Given the description of an element on the screen output the (x, y) to click on. 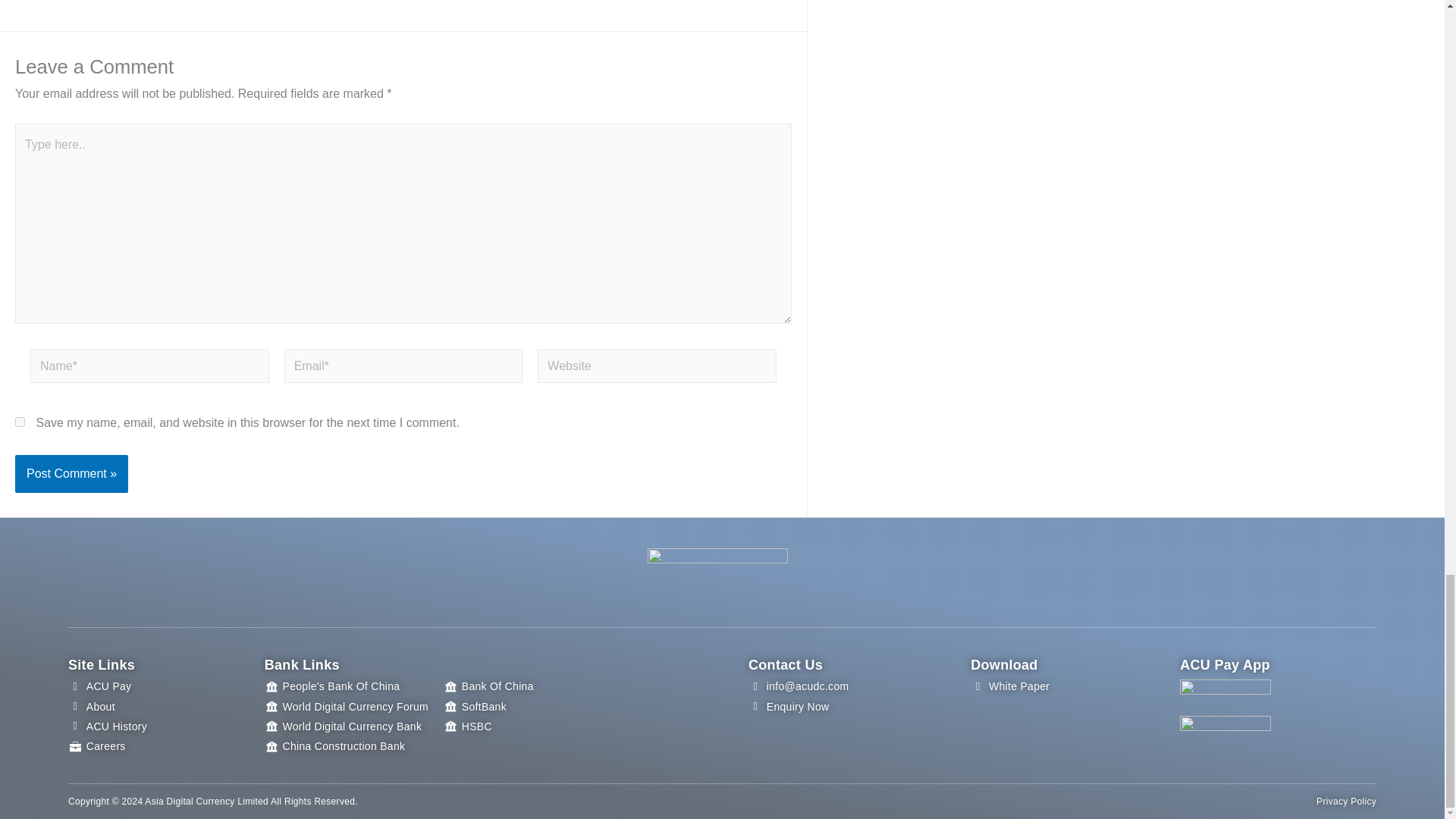
yes (19, 421)
